Given the description of an element on the screen output the (x, y) to click on. 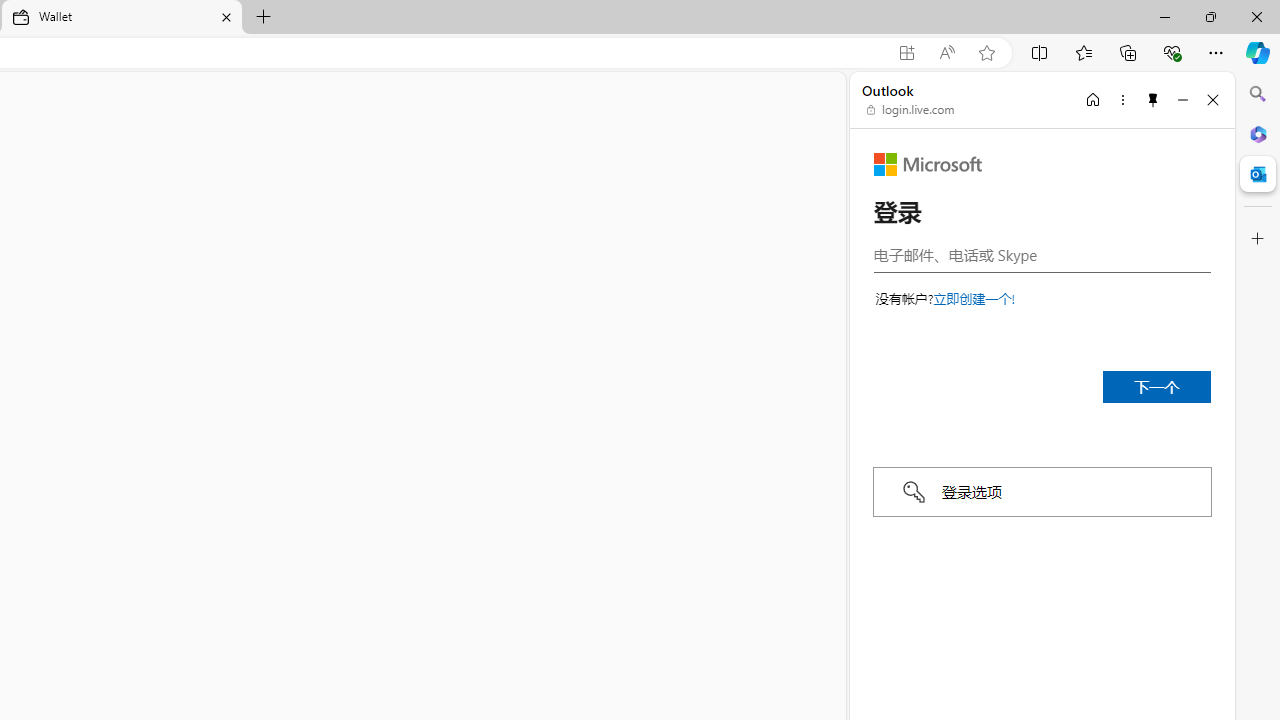
Microsoft (927, 164)
